Given the description of an element on the screen output the (x, y) to click on. 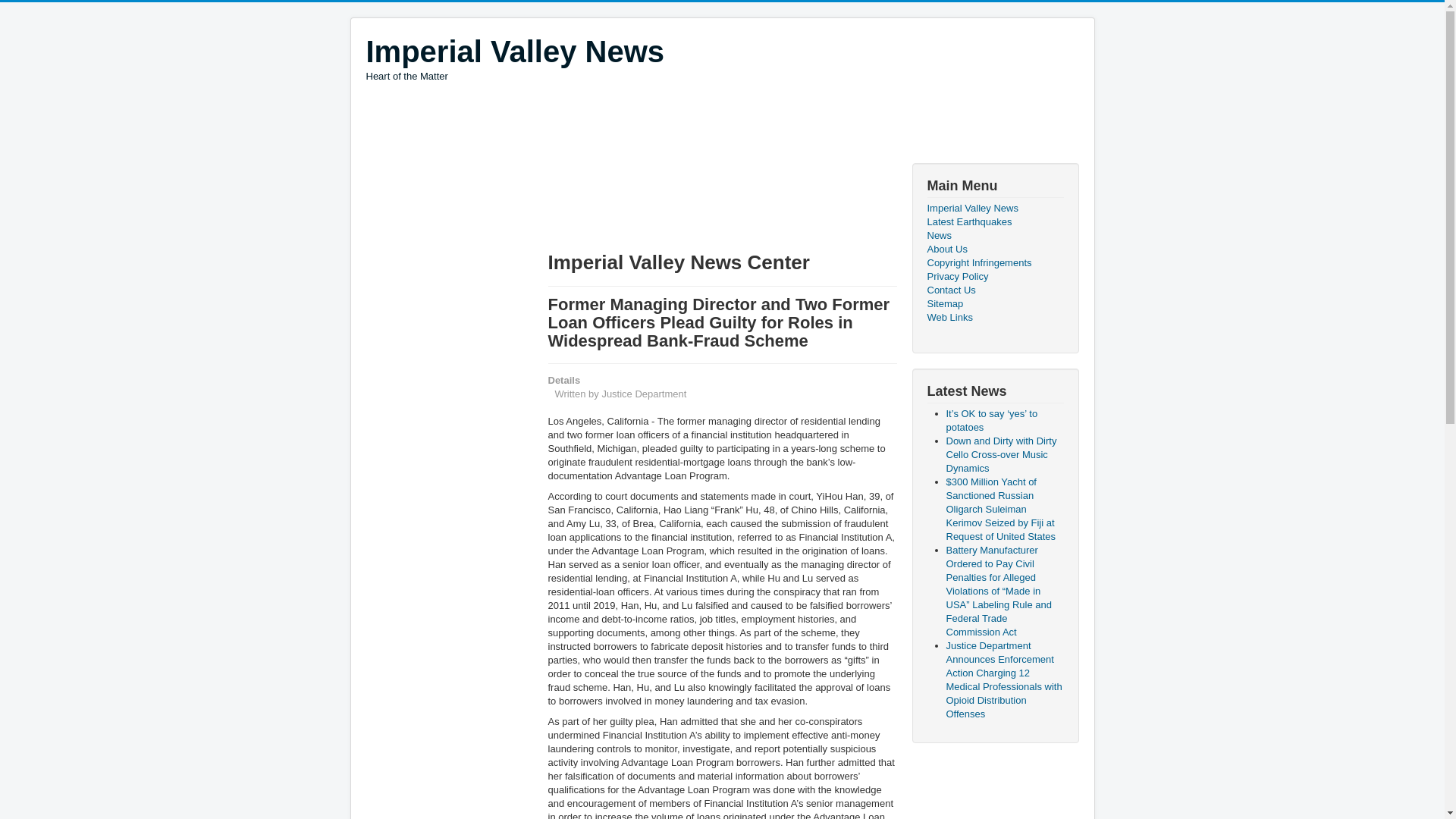
Advertisement (641, 124)
Copyright Infringements (994, 263)
Sitemap (994, 304)
News (994, 235)
Contact Us (994, 290)
Advertisement (668, 200)
Web Links (994, 317)
Down and Dirty with Dirty Cello Cross-over Music Dynamics (1001, 454)
Latest Earthquakes (994, 222)
